Given the description of an element on the screen output the (x, y) to click on. 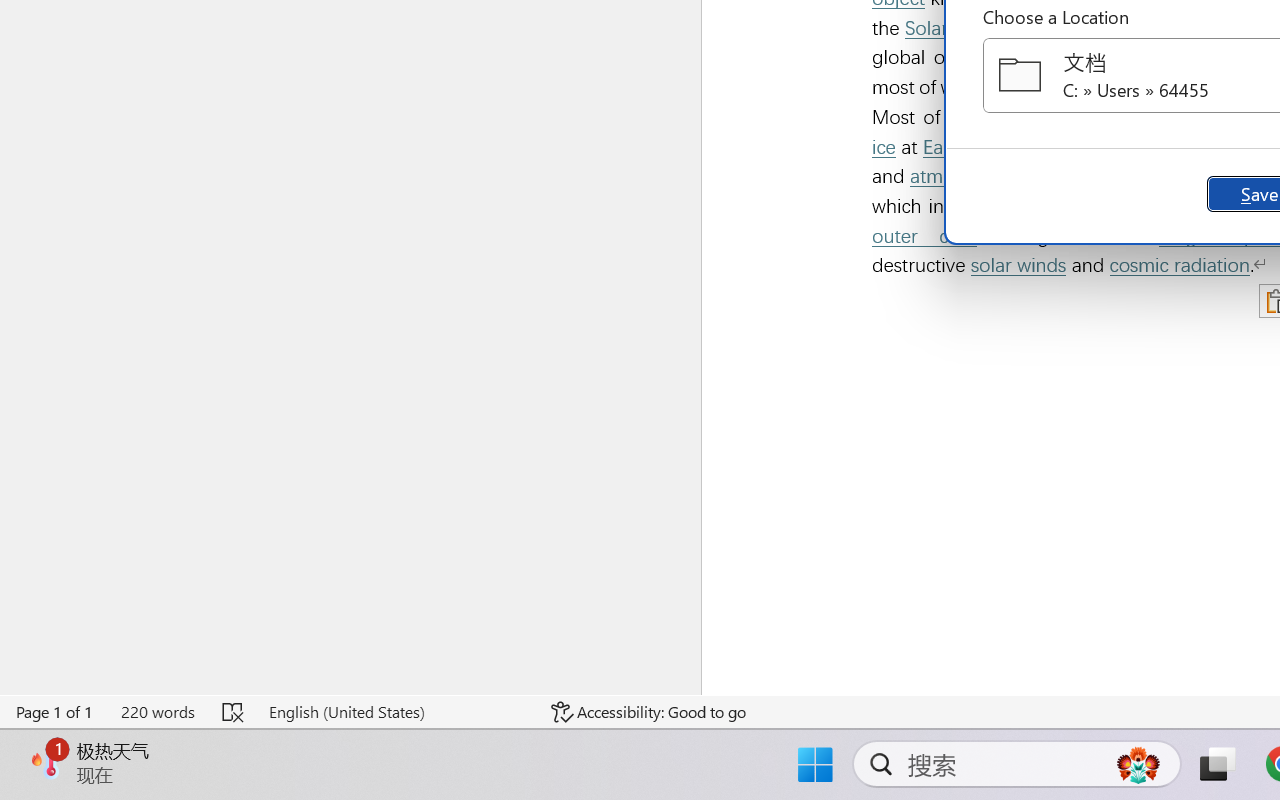
Spelling and Grammar Check Errors (234, 712)
